Given the description of an element on the screen output the (x, y) to click on. 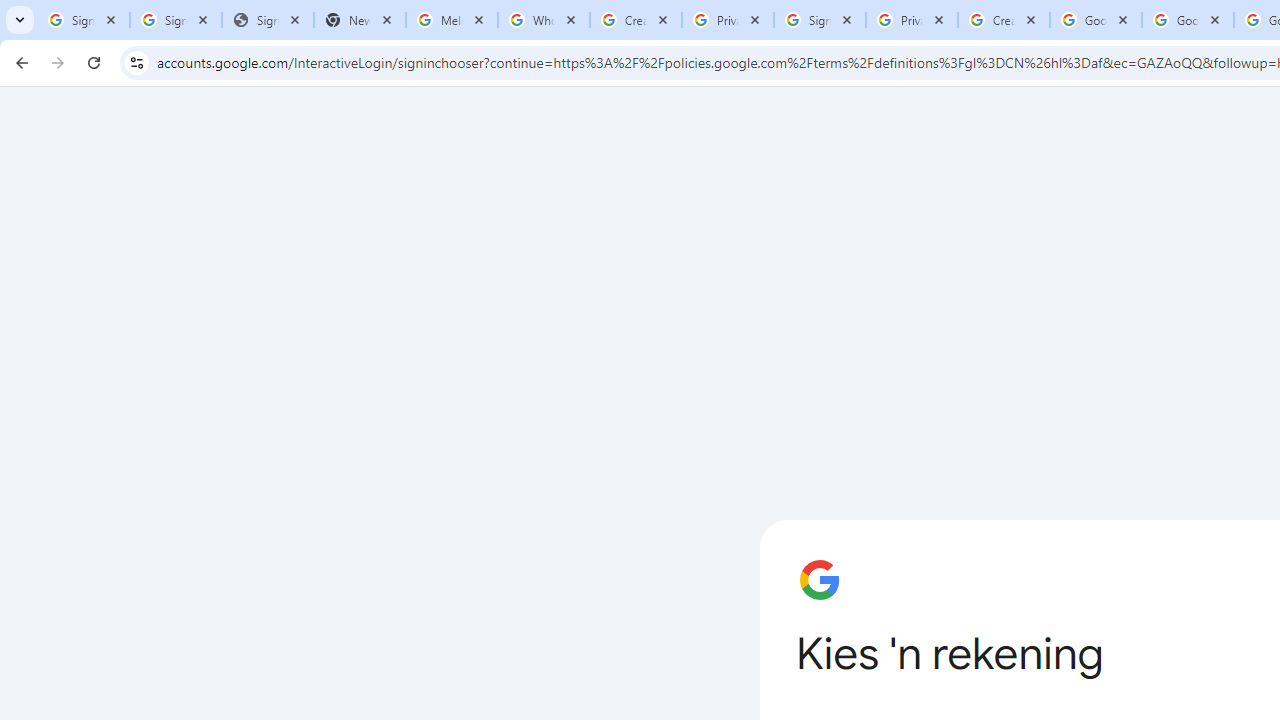
Sign in - Google Accounts (83, 20)
Who is my administrator? - Google Account Help (543, 20)
New Tab (359, 20)
Create your Google Account (636, 20)
Sign in - Google Accounts (175, 20)
Create your Google Account (1003, 20)
